Given the description of an element on the screen output the (x, y) to click on. 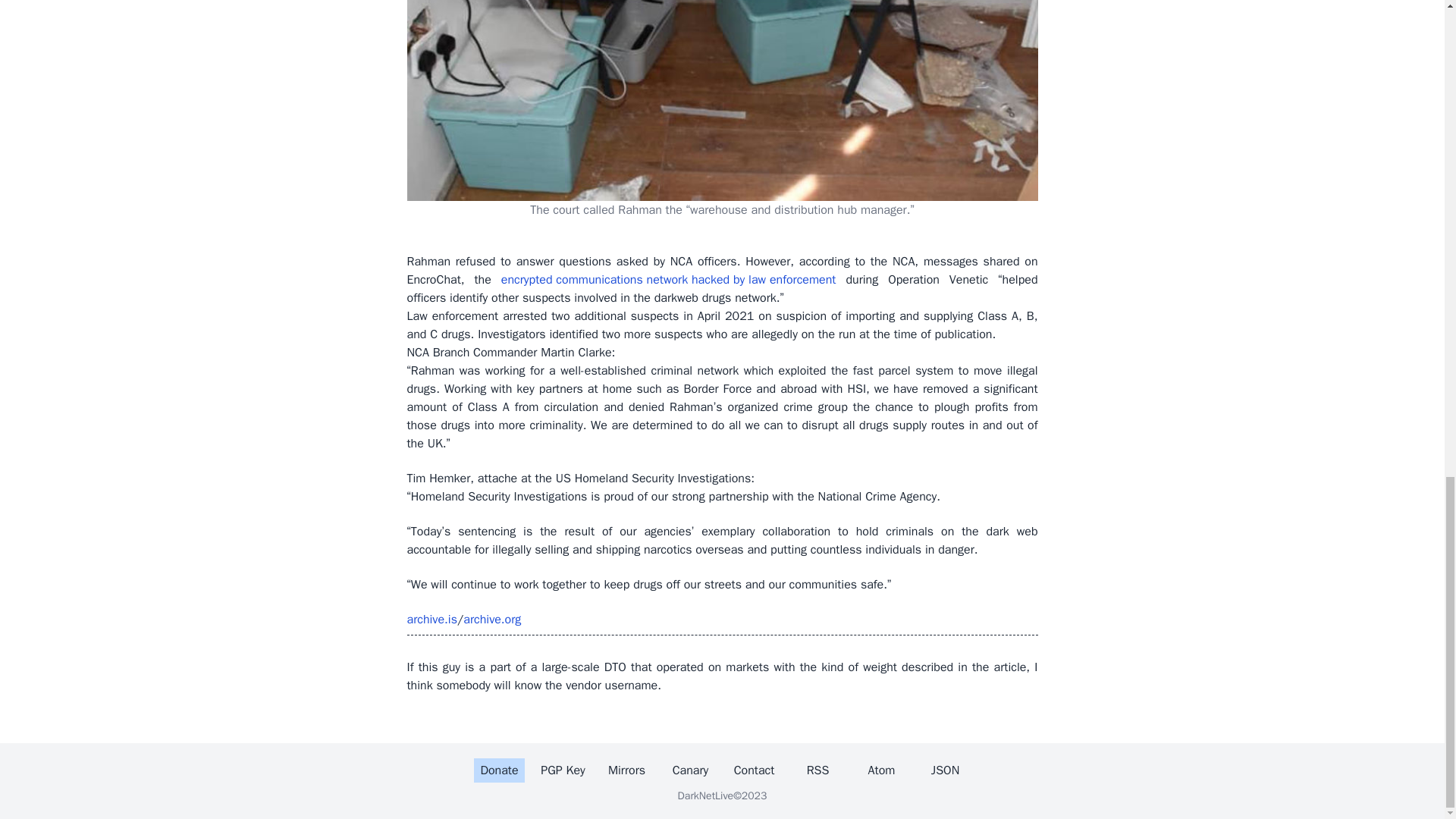
PGP Key (562, 770)
Mirrors (626, 770)
archive.org (492, 619)
JSON (945, 770)
RSS (817, 770)
Atom (881, 770)
Contact (753, 770)
archive.is (431, 619)
encrypted communications network hacked by law enforcement (667, 280)
Canary (690, 770)
